Given the description of an element on the screen output the (x, y) to click on. 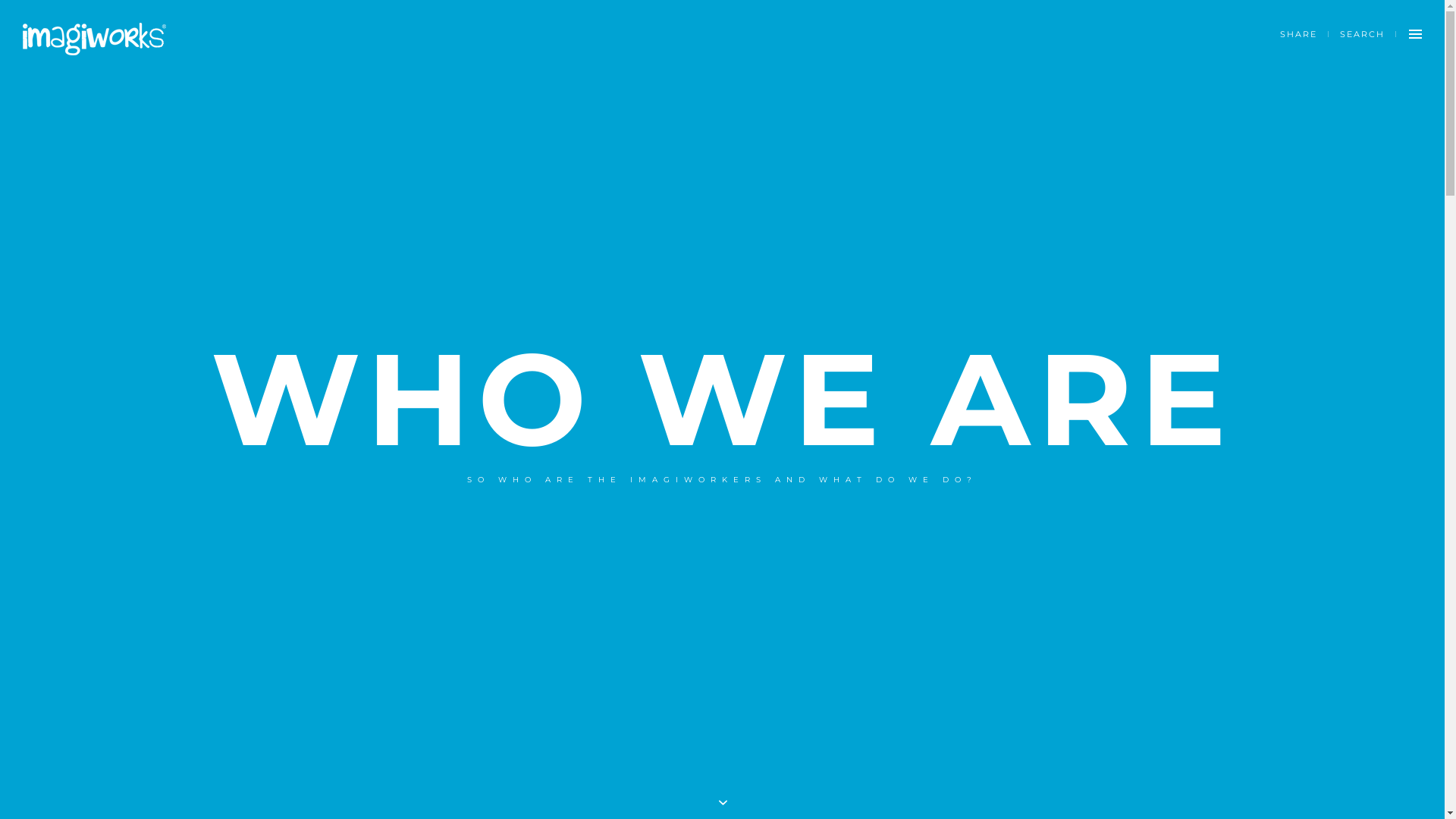
SEARCH Element type: text (1361, 33)
SHARE Element type: text (1298, 33)
ImagiWorks Element type: hover (94, 38)
